Given the description of an element on the screen output the (x, y) to click on. 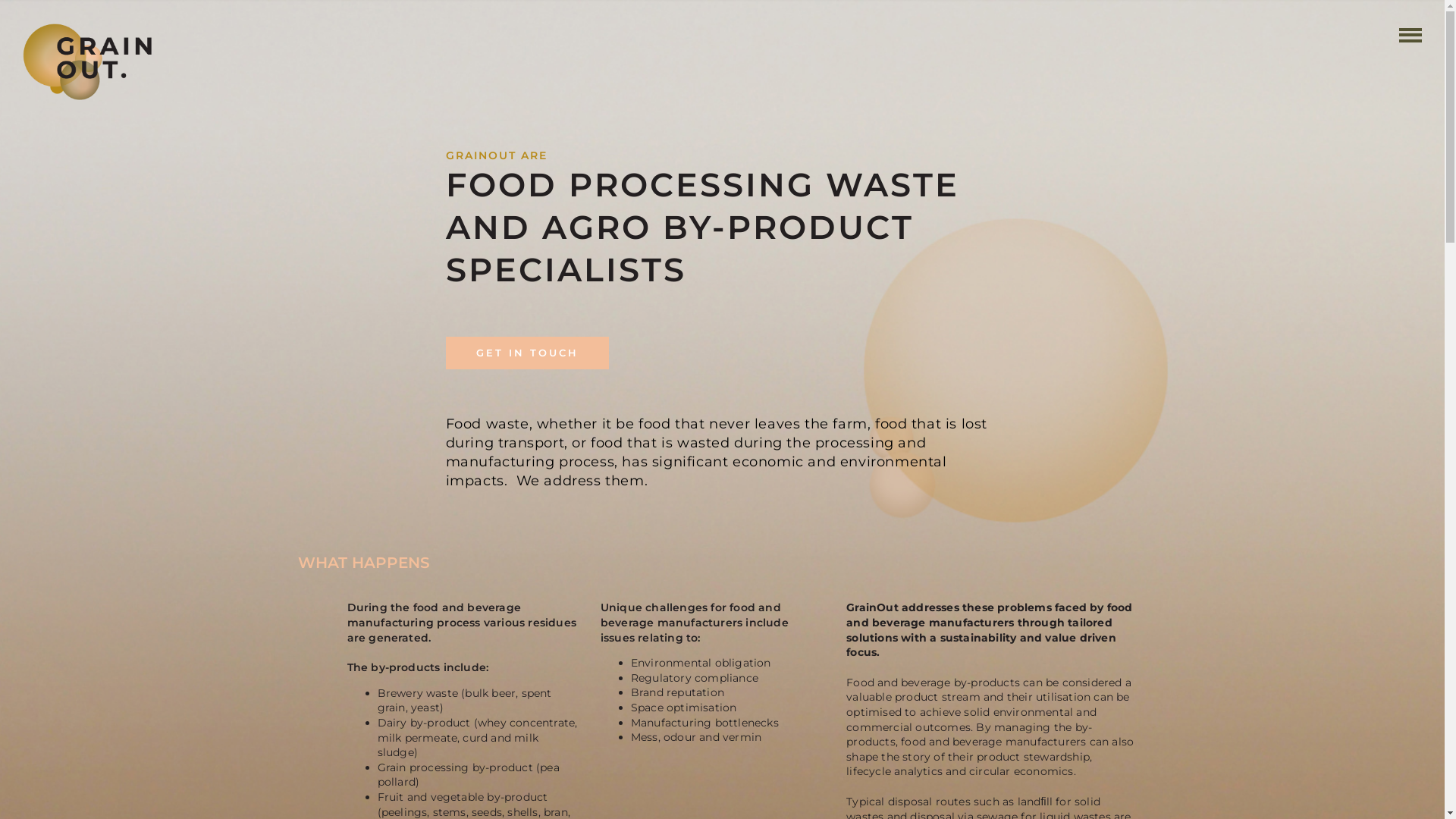
GET IN TOUCH Element type: text (526, 352)
